Given the description of an element on the screen output the (x, y) to click on. 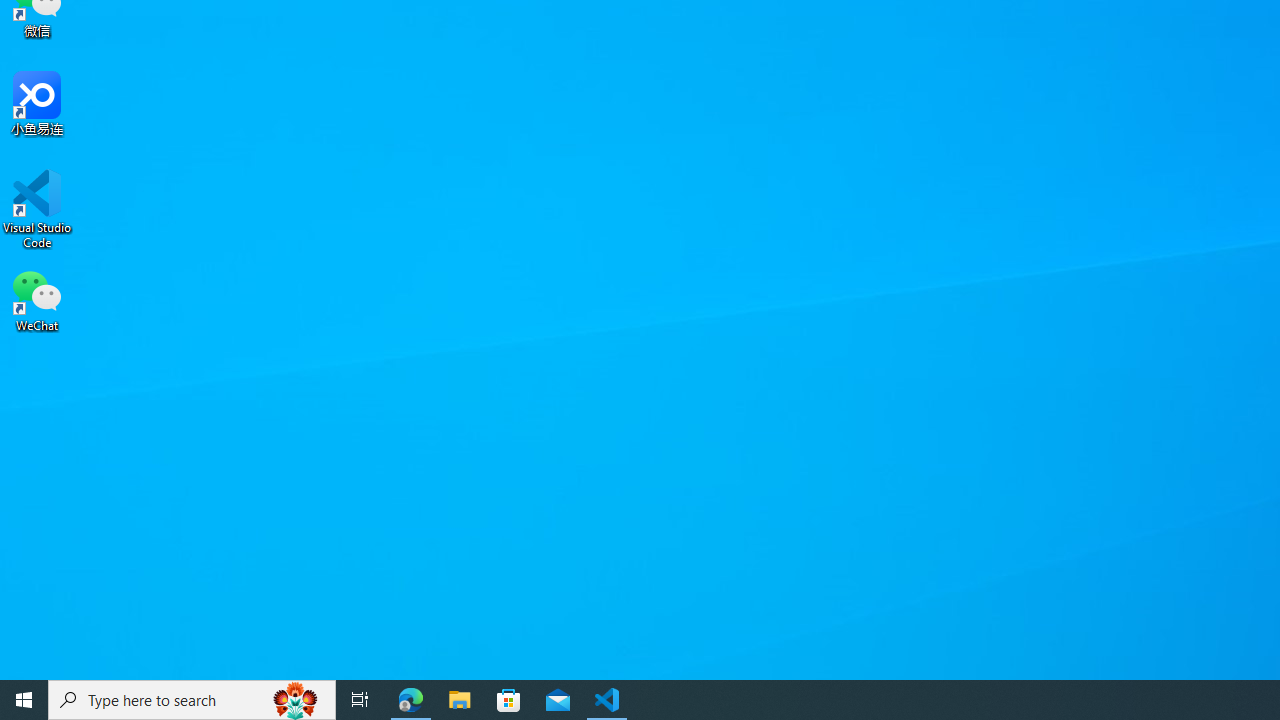
Visual Studio Code - 1 running window (607, 699)
Type here to search (191, 699)
Microsoft Store (509, 699)
WeChat (37, 299)
Visual Studio Code (37, 209)
Search highlights icon opens search home window (295, 699)
Start (24, 699)
Microsoft Edge - 1 running window (411, 699)
File Explorer (460, 699)
Task View (359, 699)
